Given the description of an element on the screen output the (x, y) to click on. 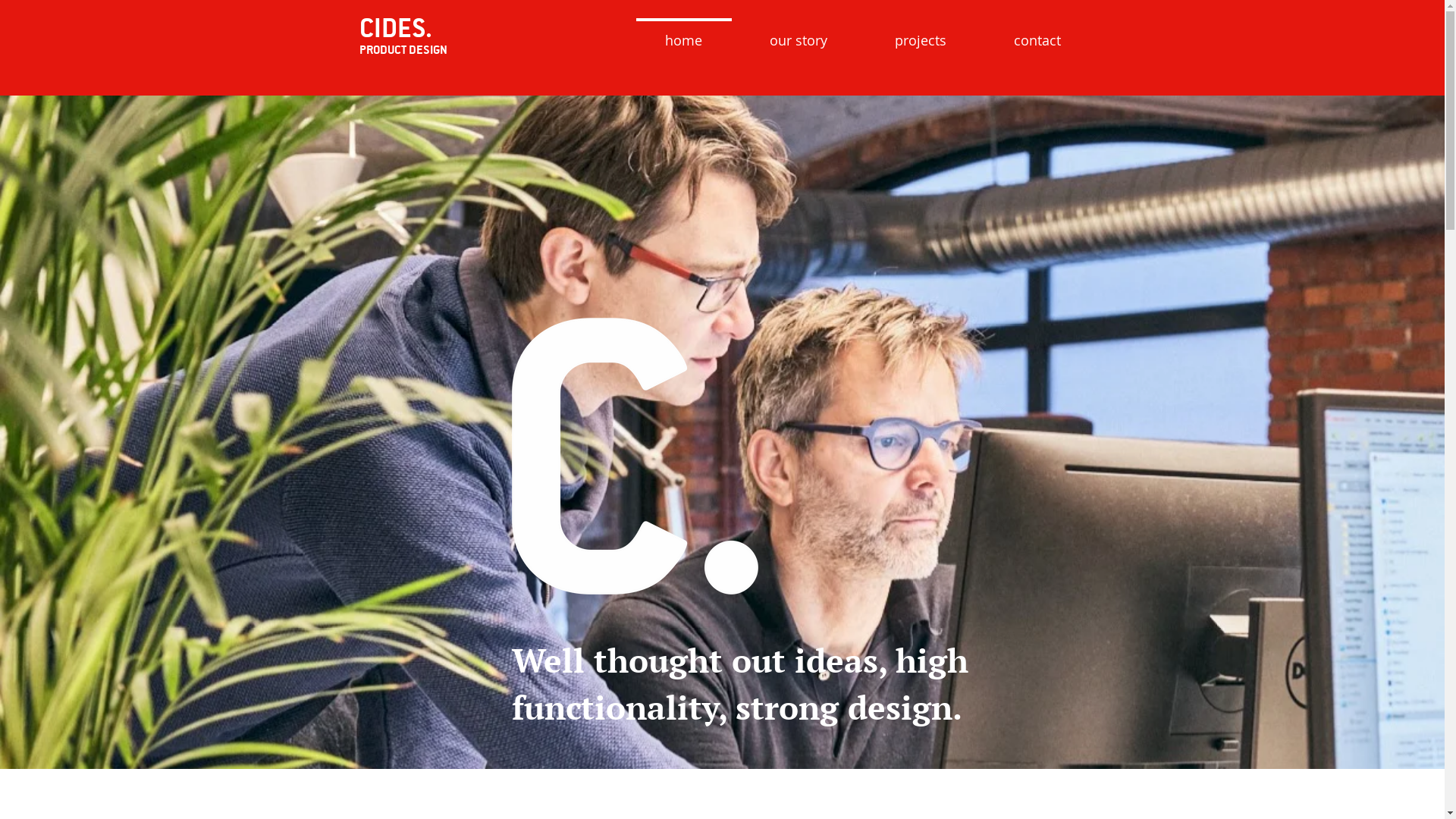
projects Element type: text (920, 33)
our story Element type: text (797, 33)
home Element type: text (682, 33)
CIDES. Element type: text (395, 26)
Cides_C._2013_pms485C.png Element type: hover (634, 455)
contact Element type: text (1036, 33)
